Given the description of an element on the screen output the (x, y) to click on. 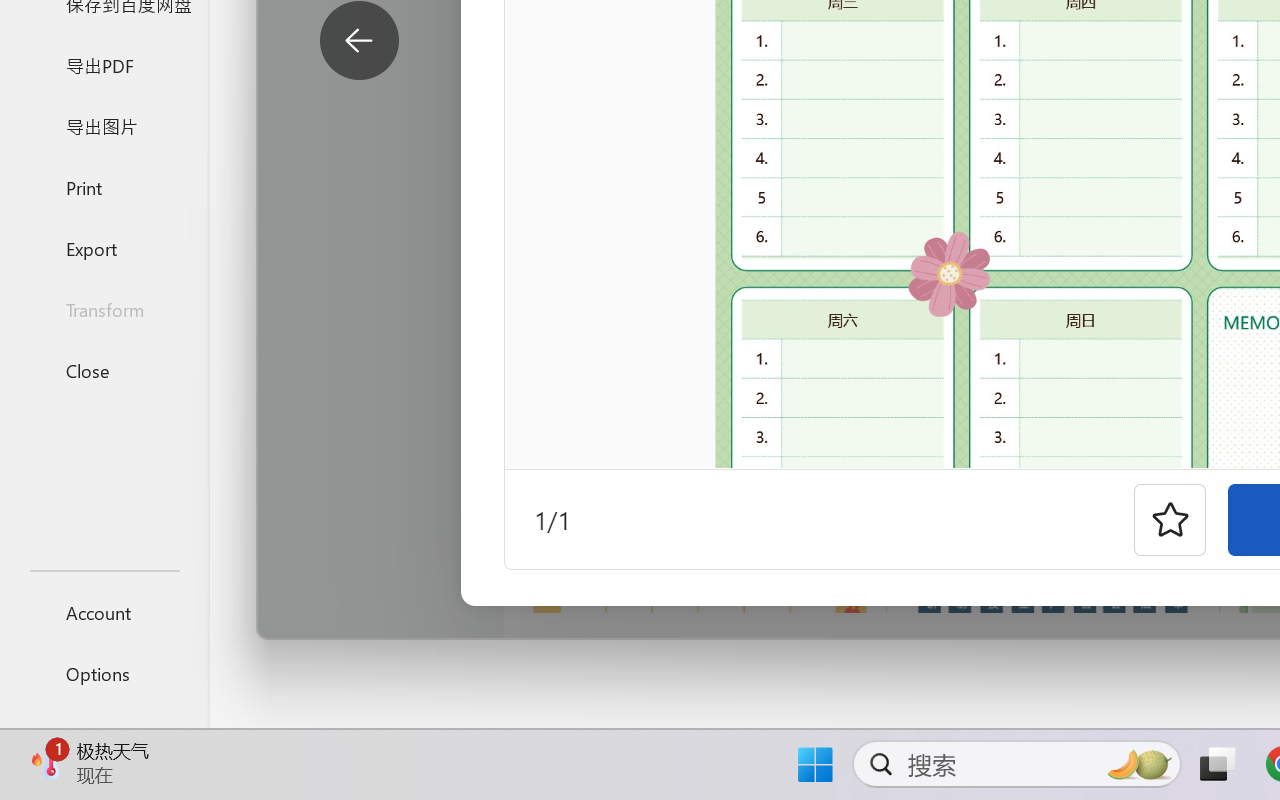
Print (104, 186)
